Given the description of an element on the screen output the (x, y) to click on. 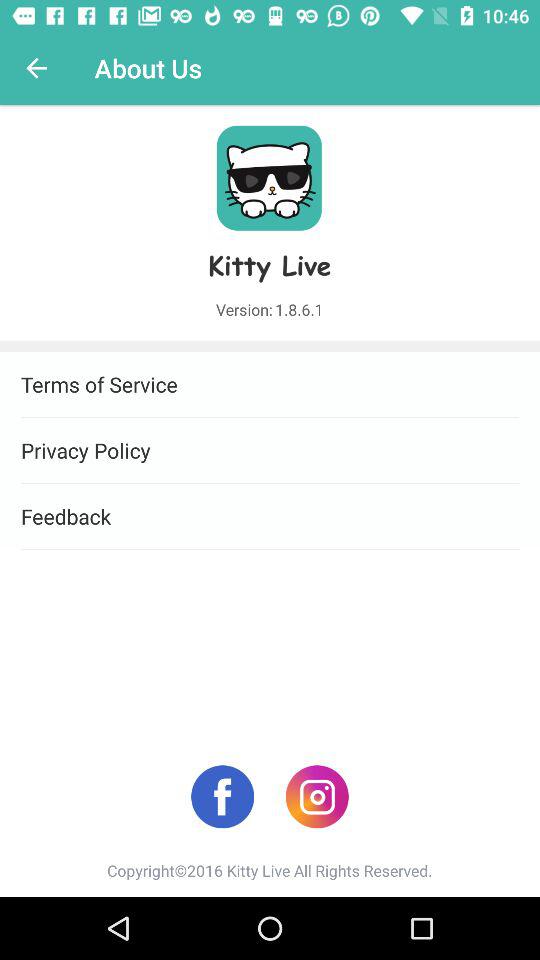
instagram (316, 796)
